Given the description of an element on the screen output the (x, y) to click on. 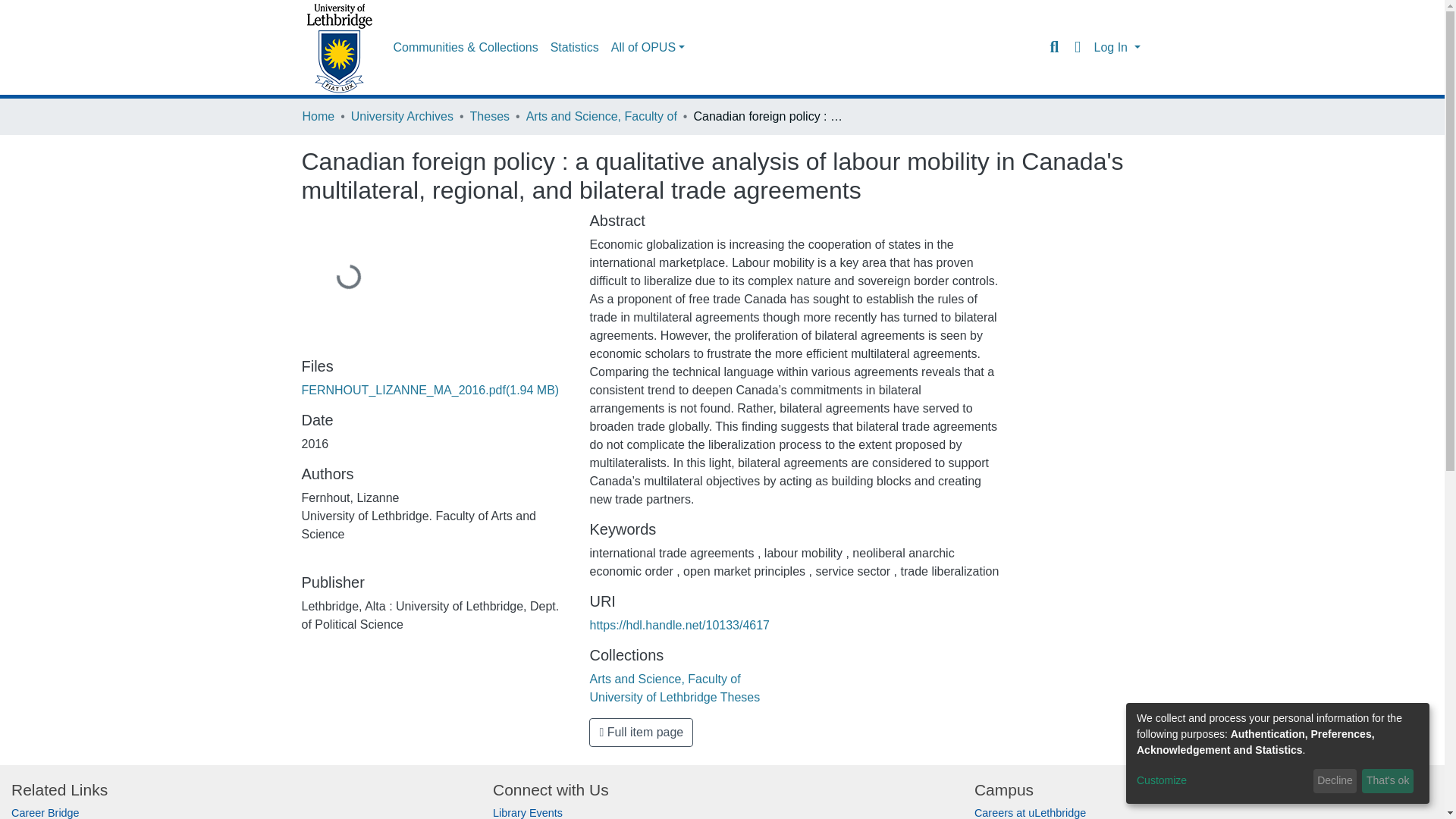
Log In (1116, 47)
Statistics (574, 47)
Statistics (574, 47)
Home (317, 116)
Career Bridge (45, 812)
Theses (489, 116)
Arts and Science, Faculty of (664, 678)
Library Events (527, 812)
Search (1053, 47)
Language switch (1077, 47)
Careers at uLethbridge (1030, 812)
University Archives (401, 116)
Arts and Science, Faculty of (601, 116)
Full item page (641, 732)
University of Lethbridge Theses (674, 697)
